Given the description of an element on the screen output the (x, y) to click on. 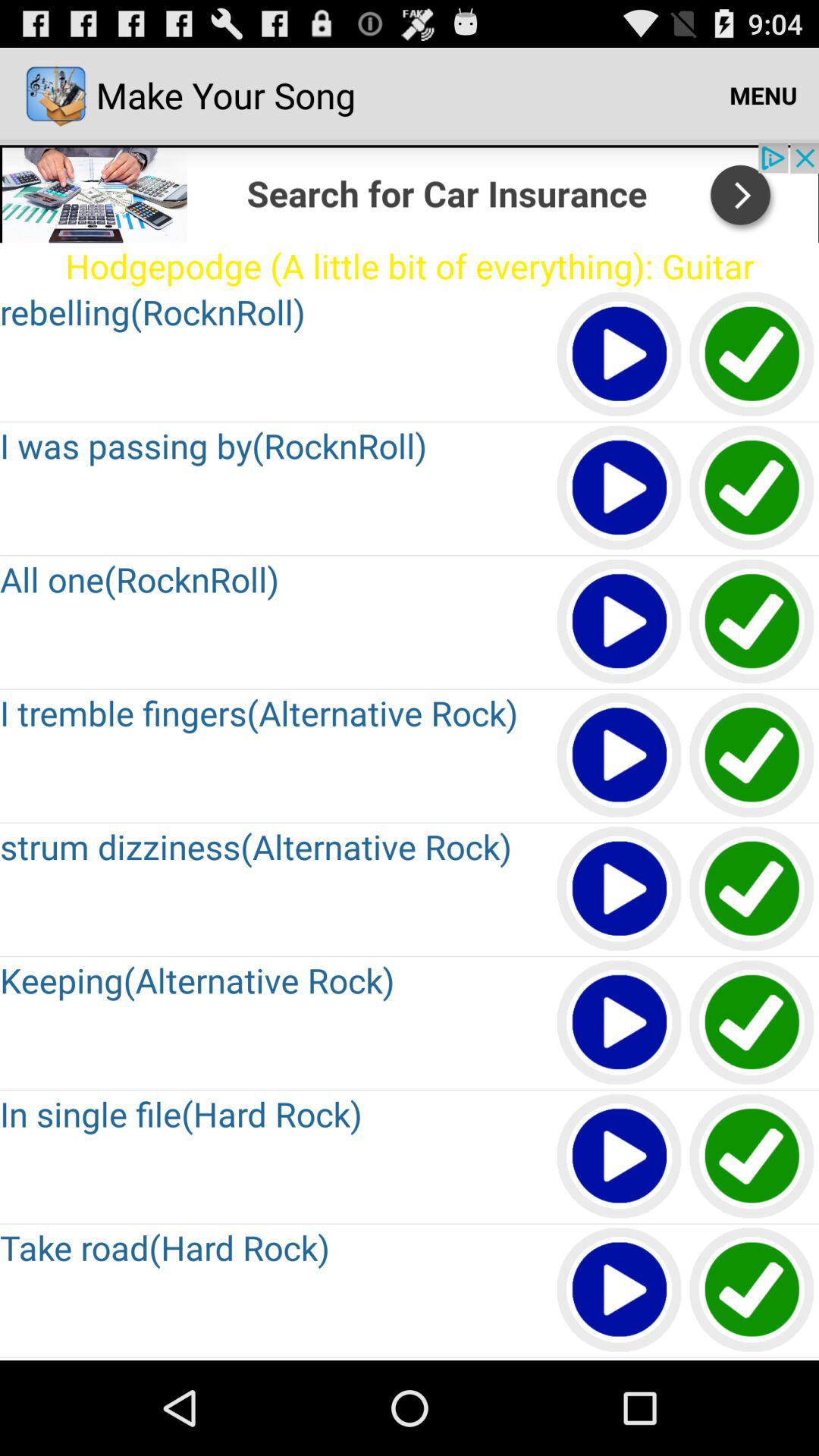
go to play (619, 1156)
